Given the description of an element on the screen output the (x, y) to click on. 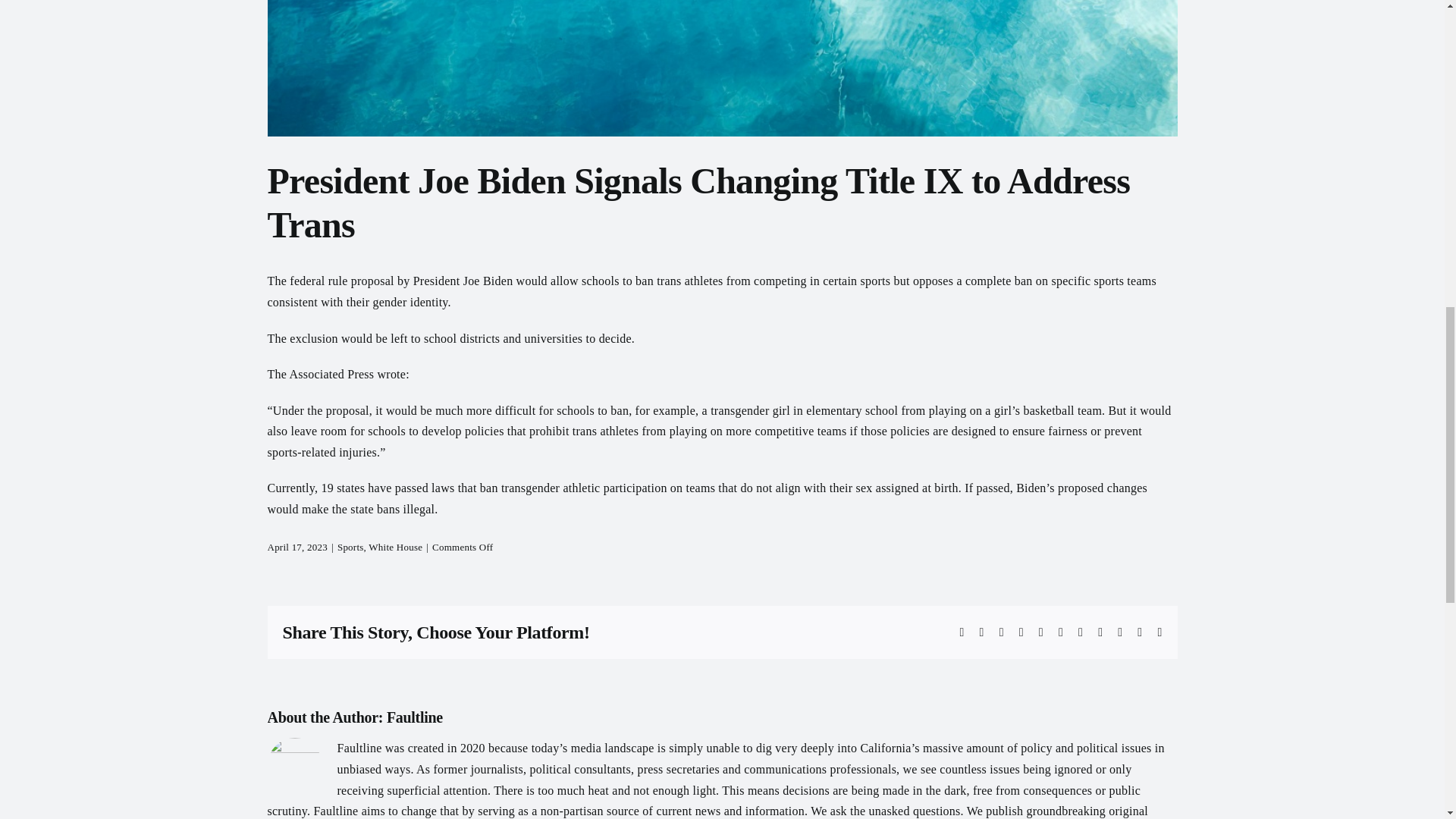
Posts by Faultline (414, 717)
View Larger Image (721, 68)
White House (395, 546)
Sports (350, 546)
Title IX (721, 68)
Faultline (414, 717)
Associated Press wrote (347, 373)
